Given the description of an element on the screen output the (x, y) to click on. 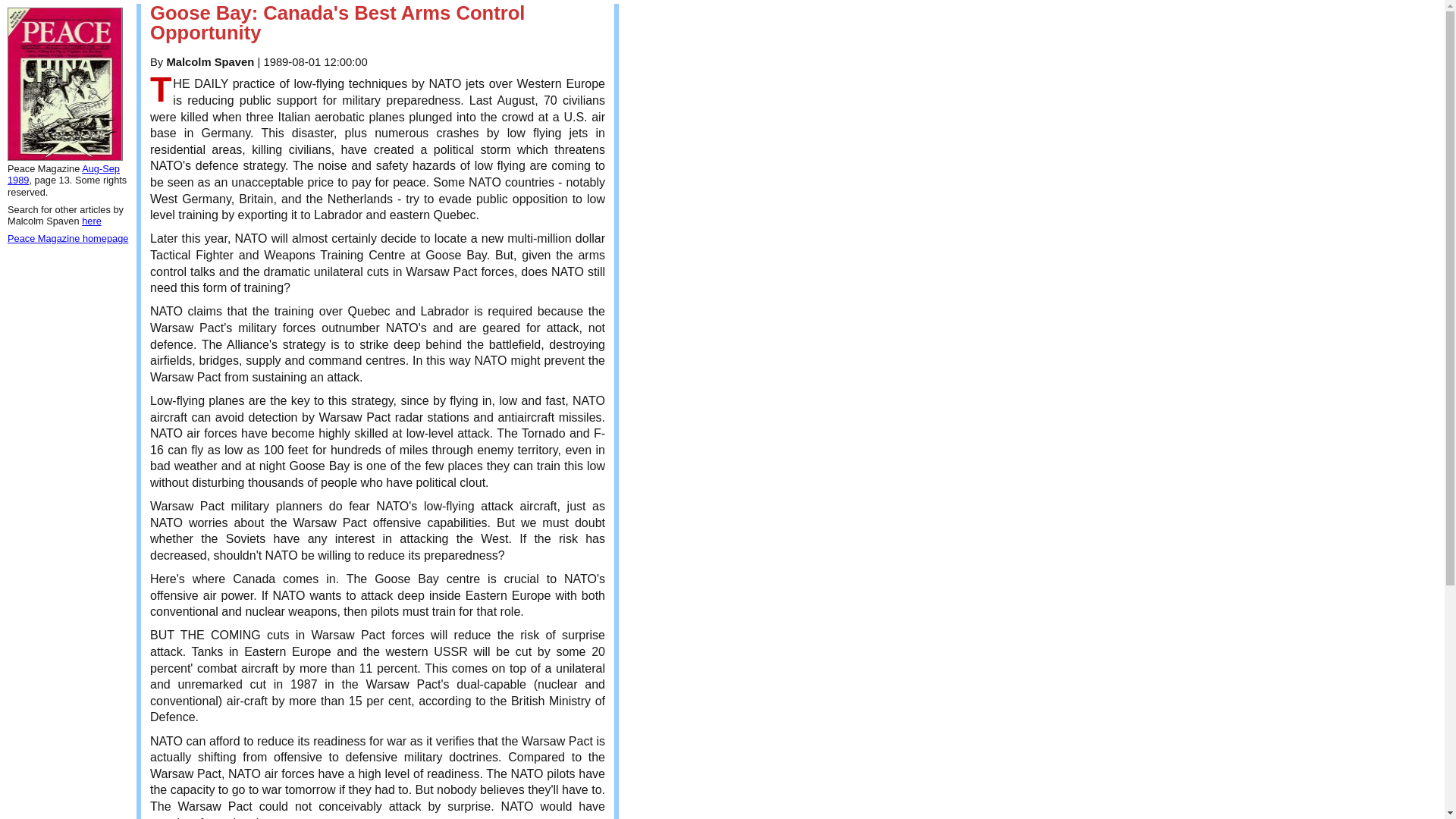
Peace Magazine homepage (67, 238)
Aug-Sep 1989 (63, 173)
here (91, 220)
